Given the description of an element on the screen output the (x, y) to click on. 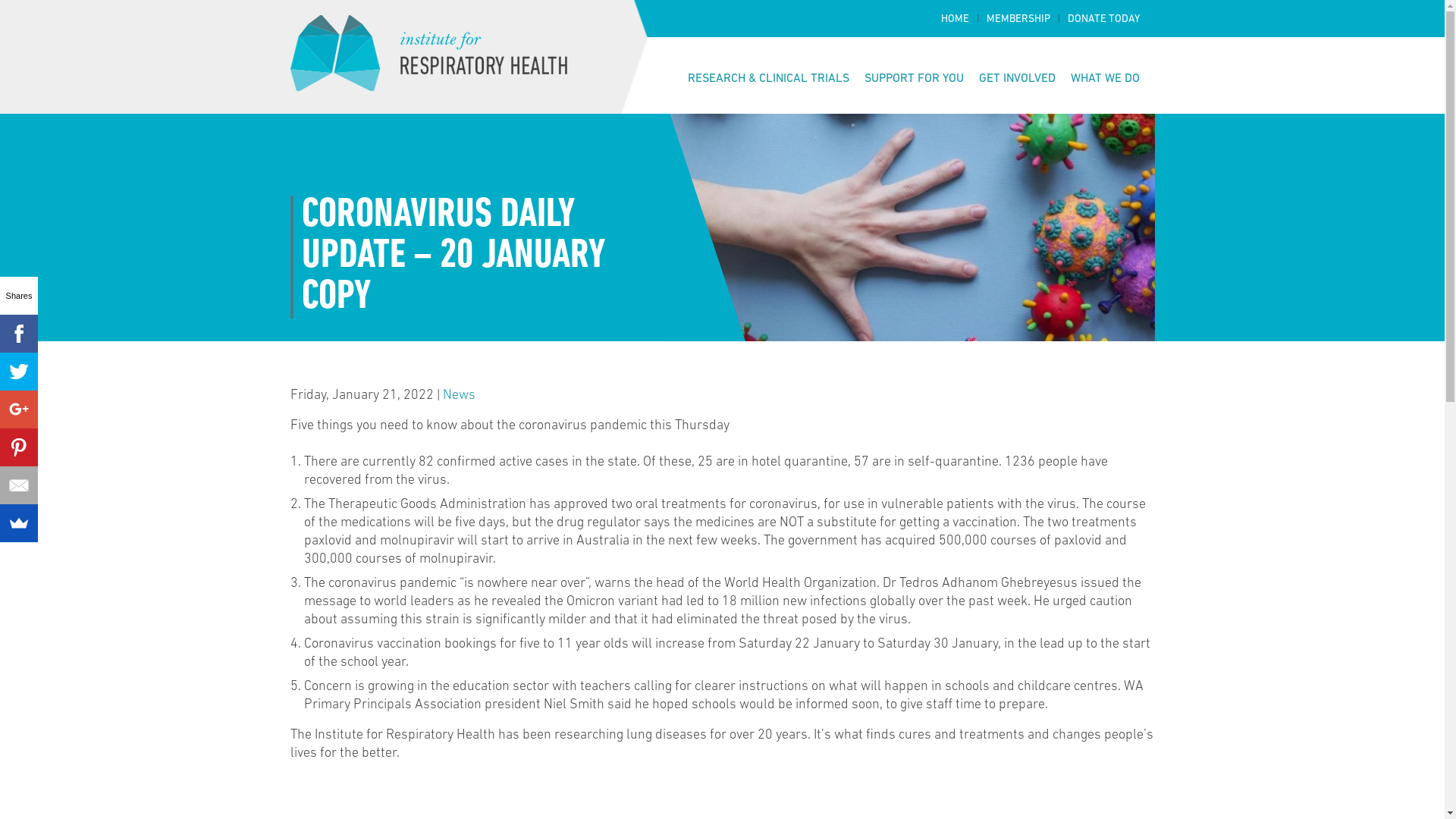
WHAT WE DO Element type: text (1104, 78)
Google+ Element type: hover (18, 409)
Twitter Element type: hover (18, 371)
MEMBERSHIP Element type: text (1017, 19)
HOME Element type: text (954, 19)
GET INVOLVED Element type: text (1016, 78)
Facebook Element type: hover (18, 333)
RESEARCH & CLINICAL TRIALS Element type: text (767, 78)
Pinterest Element type: hover (18, 447)
News Element type: text (458, 395)
DONATE TODAY Element type: text (1103, 19)
Email Element type: hover (18, 485)
SumoMe Element type: hover (18, 523)
SUPPORT FOR YOU Element type: text (913, 78)
